Given the description of an element on the screen output the (x, y) to click on. 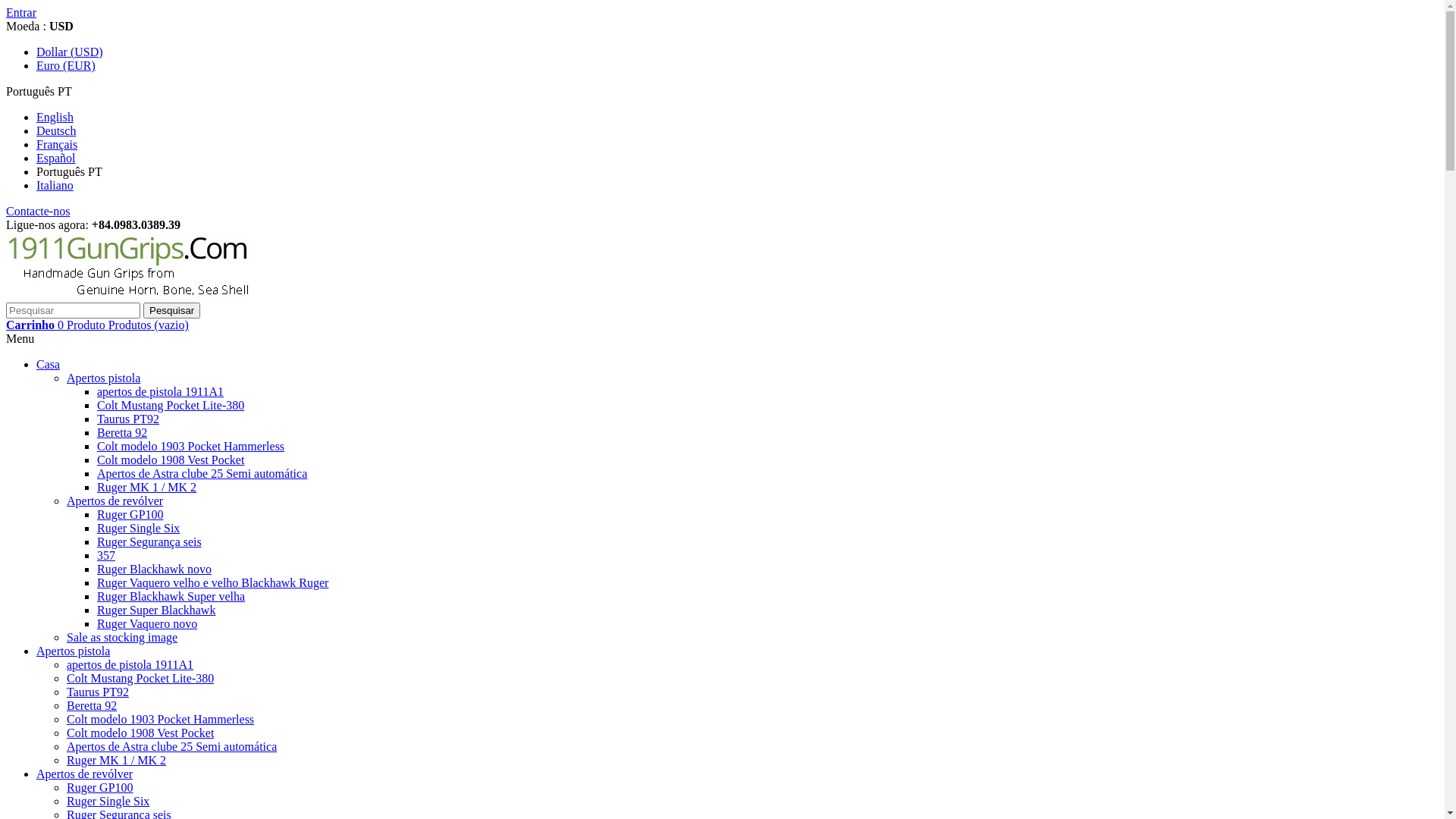
Ruger GP100 Element type: text (130, 514)
Pesquisar Element type: text (171, 310)
1911 Gun Grips Element type: hover (135, 294)
Entrar Element type: text (21, 12)
Apertos pistola Element type: text (72, 650)
Contacte-nos Element type: text (37, 210)
Sale as stocking image Element type: text (121, 636)
apertos de pistola 1911A1 Element type: text (129, 664)
Ruger Vaquero velho e velho Blackhawk Ruger Element type: text (212, 582)
Euro (EUR) Element type: text (65, 65)
Ruger Vaquero novo Element type: text (147, 623)
Colt Mustang Pocket Lite-380 Element type: text (139, 677)
Beretta 92 Element type: text (91, 705)
Ruger Super Blackhawk Element type: text (156, 609)
Colt modelo 1908 Vest Pocket Element type: text (139, 732)
Colt modelo 1903 Pocket Hammerless Element type: text (160, 718)
Casa Element type: text (47, 363)
Taurus PT92 Element type: text (128, 418)
Deutsch Element type: text (55, 130)
Beretta 92 Element type: text (122, 432)
Ruger MK 1 / MK 2 Element type: text (116, 759)
Carrinho 0 Produto Produtos (vazio) Element type: text (97, 324)
Ruger GP100 Element type: text (99, 787)
Dollar (USD) Element type: text (69, 51)
Ruger Single Six Element type: text (107, 800)
Italiano Element type: text (54, 184)
Colt modelo 1903 Pocket Hammerless Element type: text (190, 445)
Ruger Blackhawk Super velha Element type: text (170, 595)
Ruger Single Six Element type: text (138, 527)
Colt modelo 1908 Vest Pocket Element type: text (170, 459)
357 Element type: text (106, 555)
Ruger Blackhawk novo Element type: text (154, 568)
English Element type: text (54, 116)
apertos de pistola 1911A1 Element type: text (160, 391)
Colt Mustang Pocket Lite-380 Element type: text (170, 404)
Ruger MK 1 / MK 2 Element type: text (146, 486)
Apertos pistola Element type: text (103, 377)
Taurus PT92 Element type: text (97, 691)
